Given the description of an element on the screen output the (x, y) to click on. 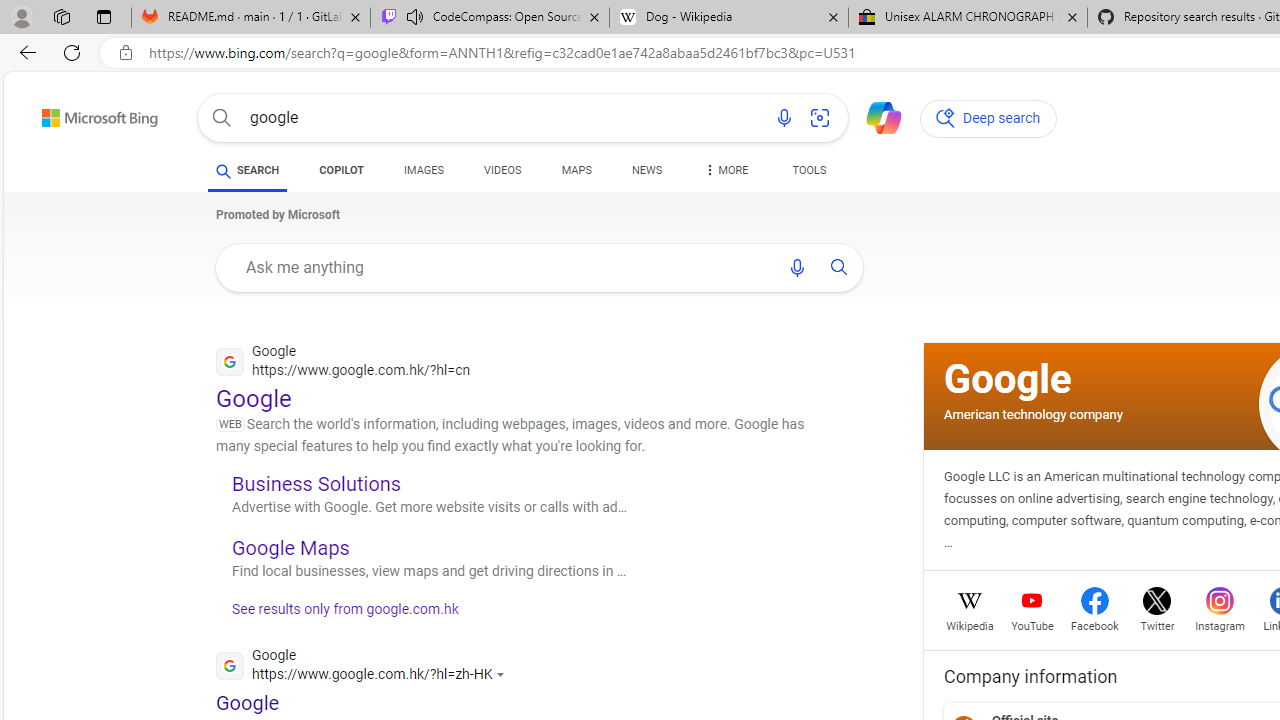
VIDEOS (502, 173)
MORE (724, 173)
Ask me anything (502, 267)
Global web icon (229, 664)
American technology company (1033, 413)
Search button (221, 117)
